Given the description of an element on the screen output the (x, y) to click on. 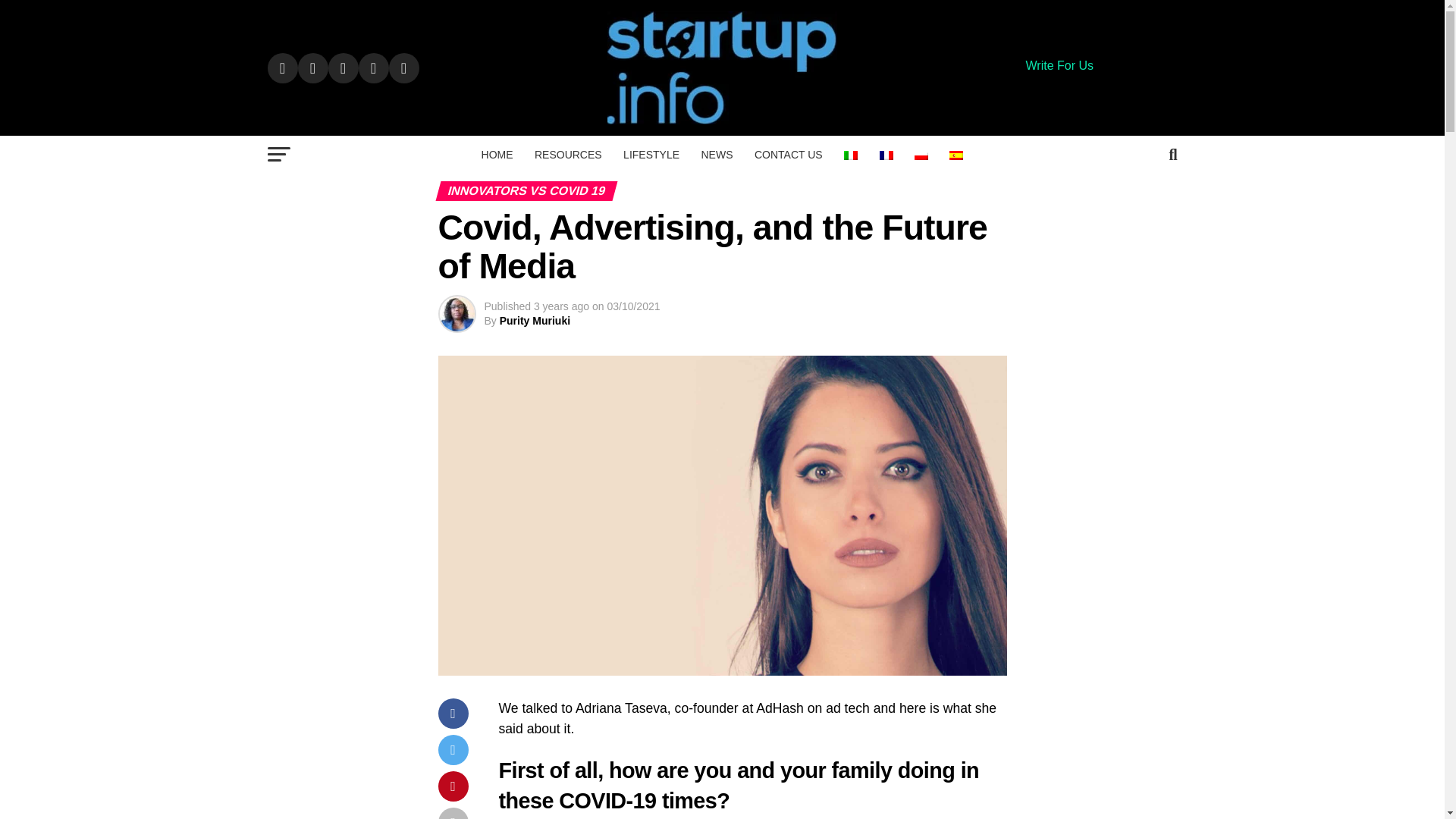
NEWS (716, 154)
HOME (496, 154)
RESOURCES (568, 154)
LIFESTYLE (651, 154)
Write For Us (1059, 65)
